Given the description of an element on the screen output the (x, y) to click on. 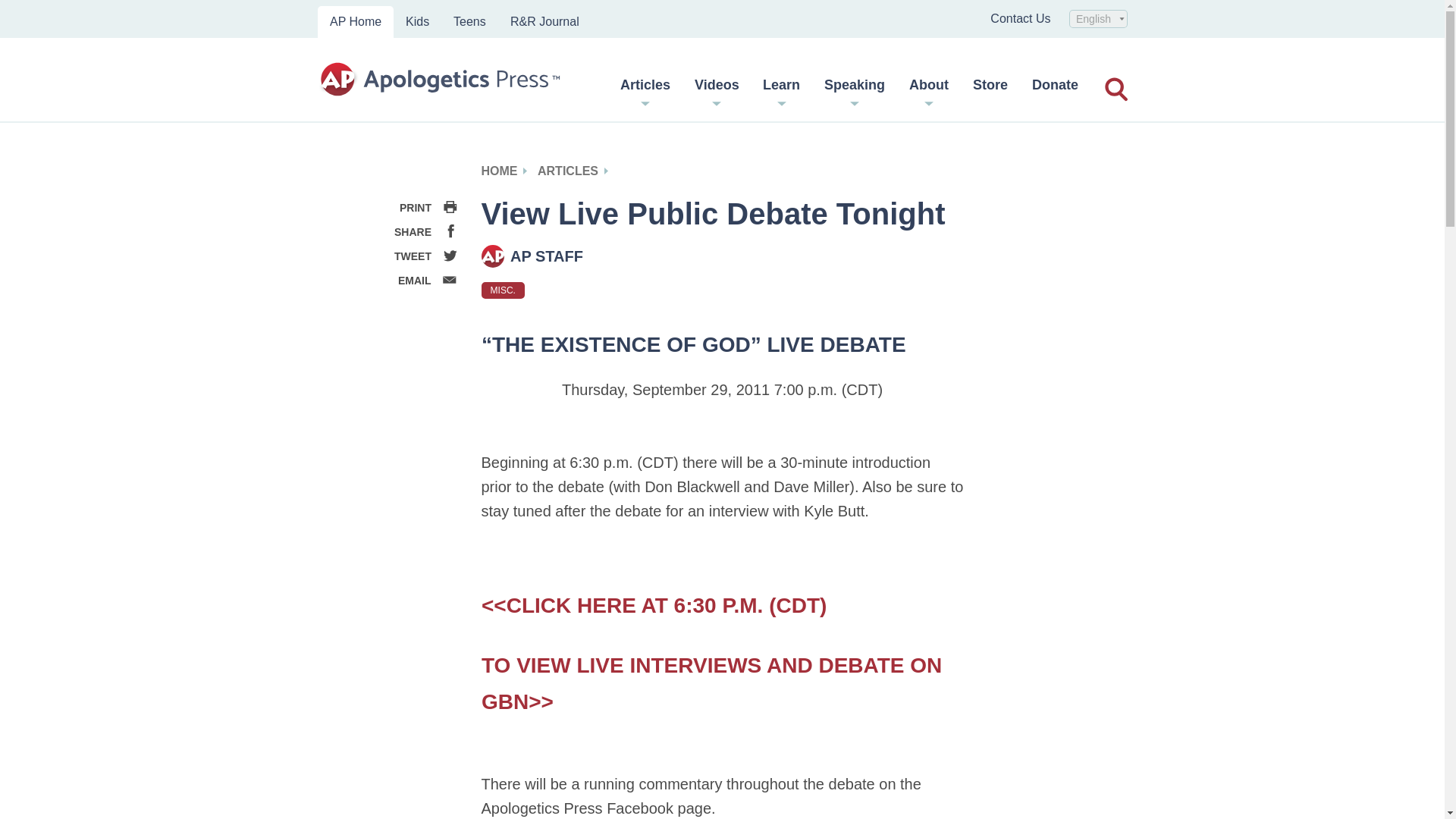
Kids (417, 21)
Contact Us (1019, 18)
Videos (716, 90)
Teens (469, 21)
Apologetics Press (439, 79)
AP Home (355, 21)
Articles (645, 90)
